Given the description of an element on the screen output the (x, y) to click on. 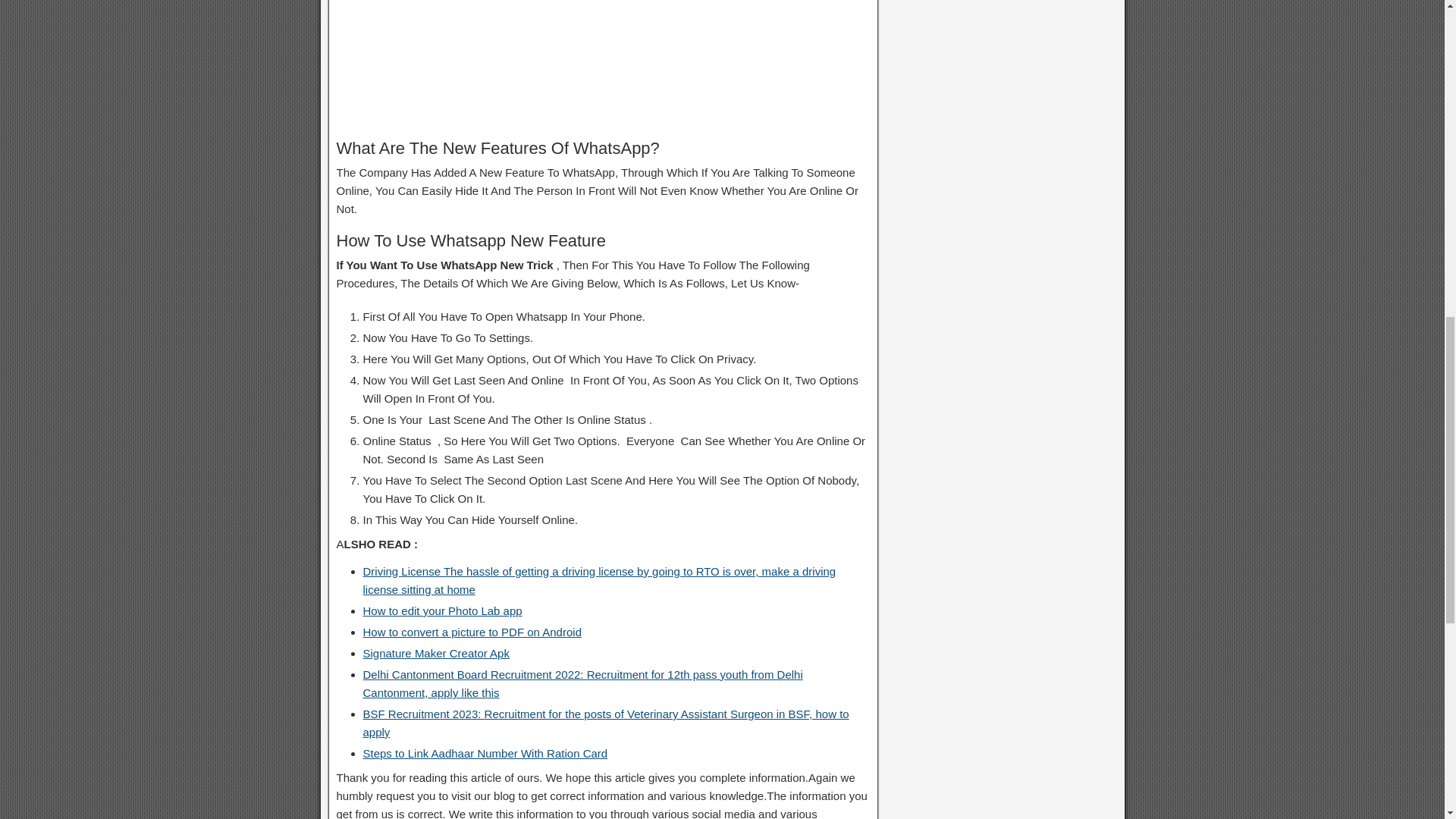
Steps to Link Aadhaar Number With Ration Card (484, 753)
How to convert a picture to PDF on Android (471, 631)
How to edit your Photo Lab app (441, 610)
Advertisement (602, 64)
Signature Maker Creator Apk (435, 653)
